Given the description of an element on the screen output the (x, y) to click on. 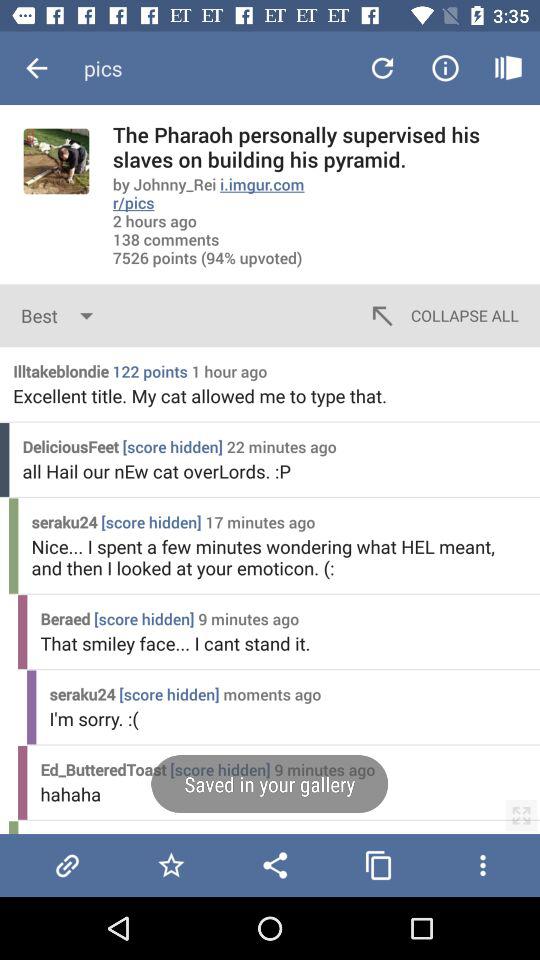
add this post to the starred posts list (171, 865)
